Given the description of an element on the screen output the (x, y) to click on. 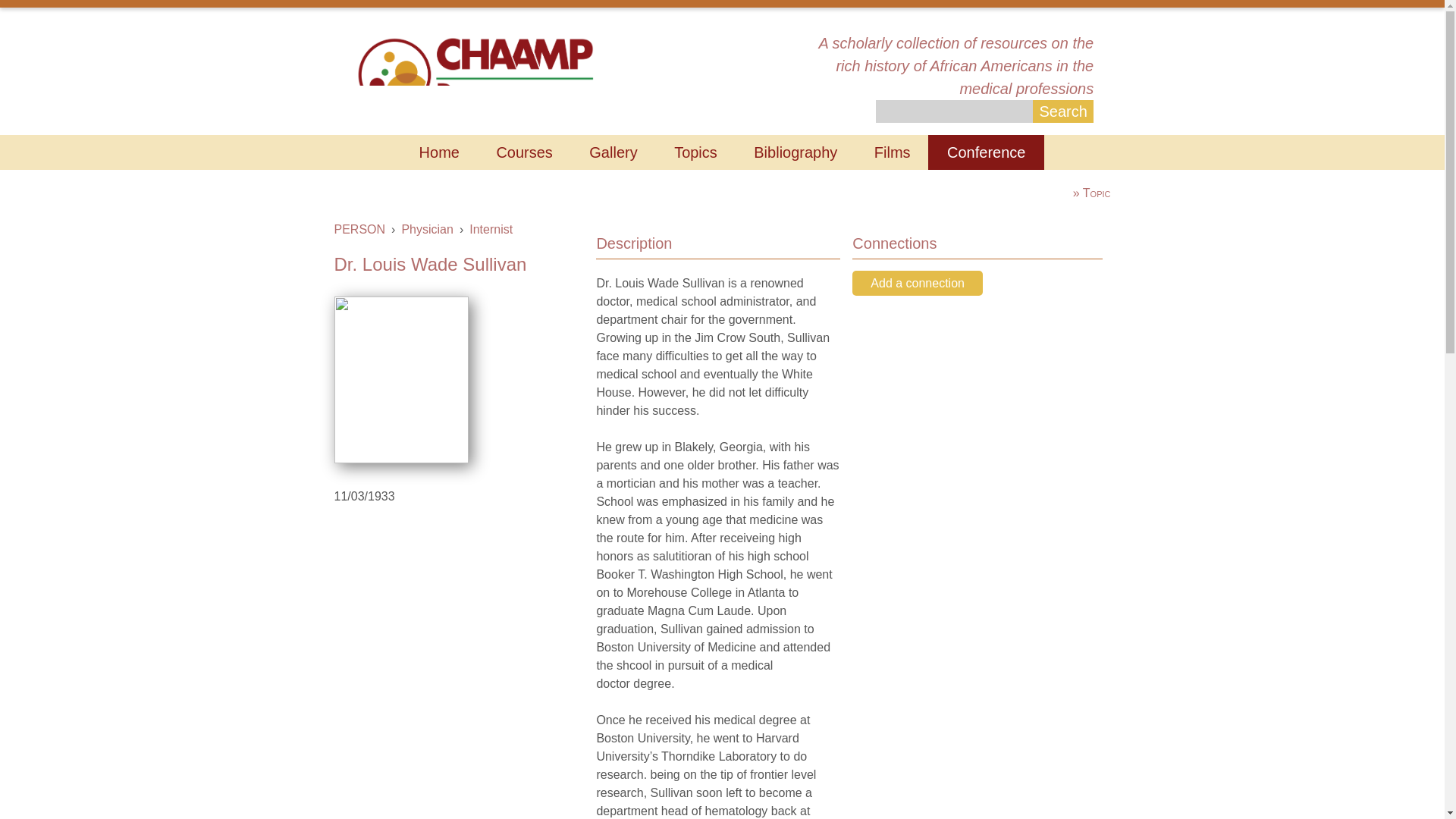
Physician (426, 228)
Home (474, 72)
PERSON (359, 228)
Search (1062, 110)
Conference (985, 152)
Gallery (613, 152)
Courses (523, 152)
Topics (695, 152)
Bibliography (795, 152)
Add a connection (916, 283)
